Given the description of an element on the screen output the (x, y) to click on. 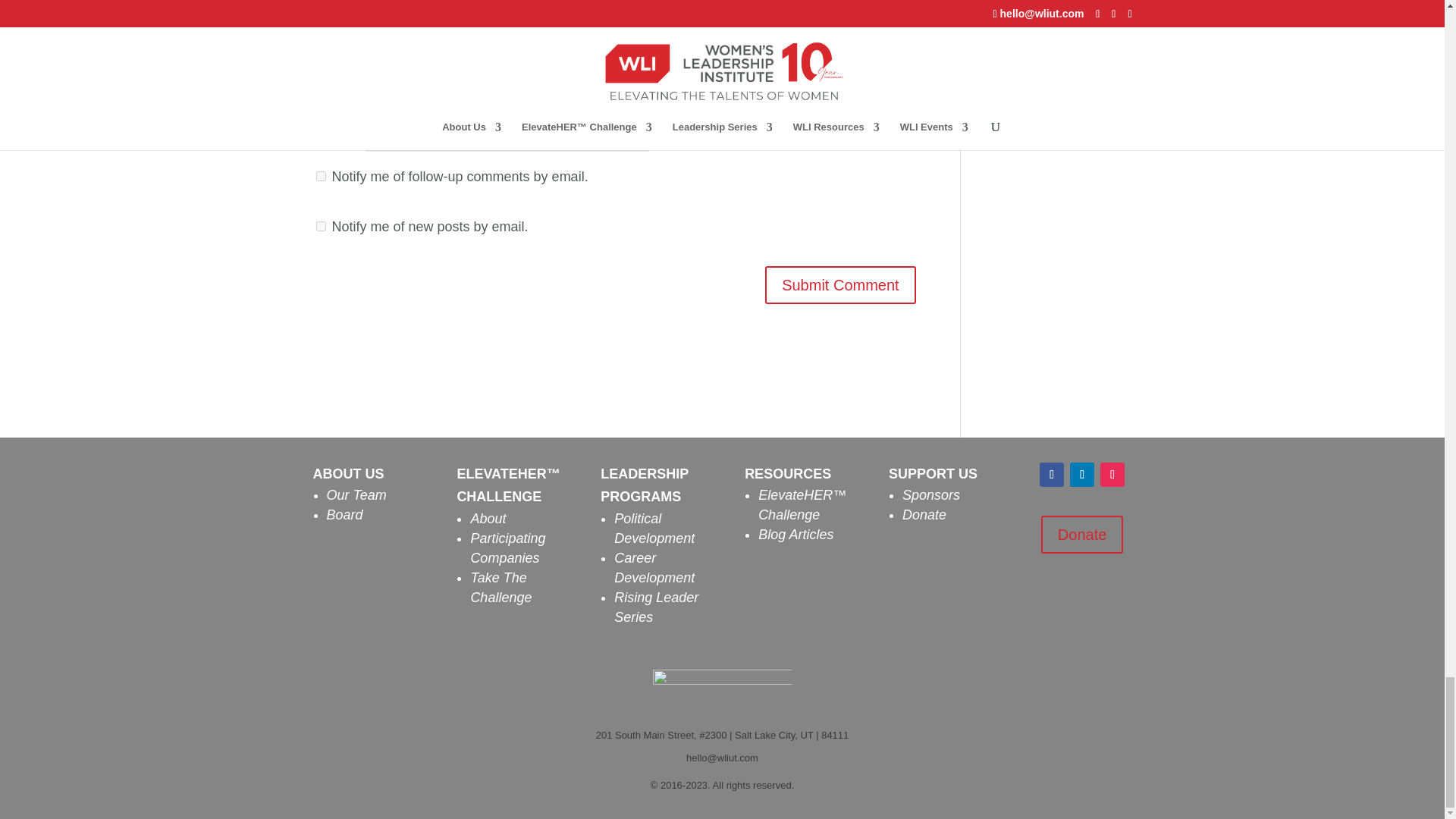
subscribe (319, 175)
Follow on LinkedIn (1082, 474)
Follow on Instagram (1112, 474)
Follow on Facebook (1051, 474)
subscribe (319, 225)
Submit Comment (840, 284)
